Given the description of an element on the screen output the (x, y) to click on. 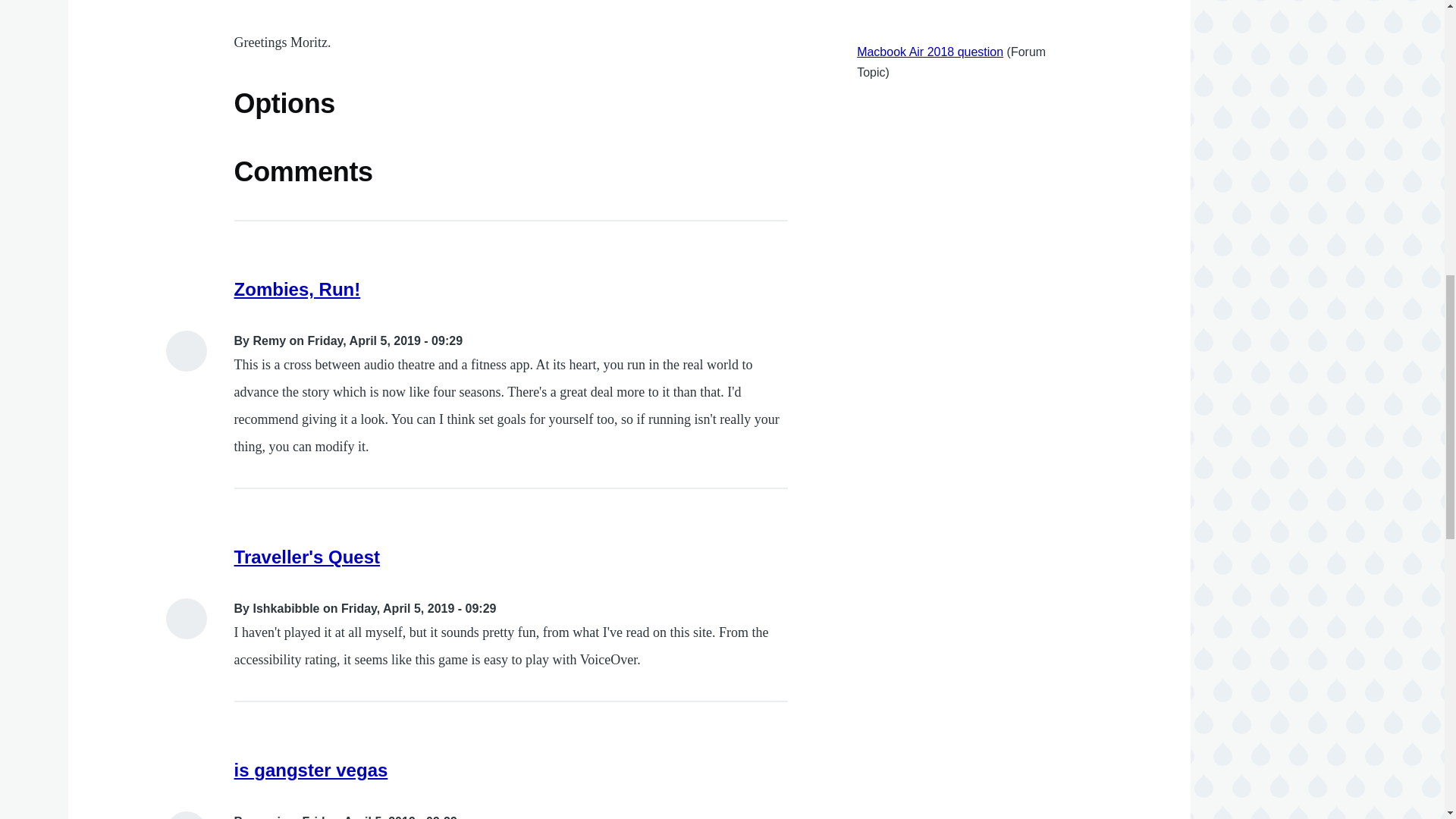
is gangster vegas (311, 770)
Macbook Air 2018 question (930, 51)
Traveller's Quest (307, 557)
Zombies, Run! (297, 289)
